Given the description of an element on the screen output the (x, y) to click on. 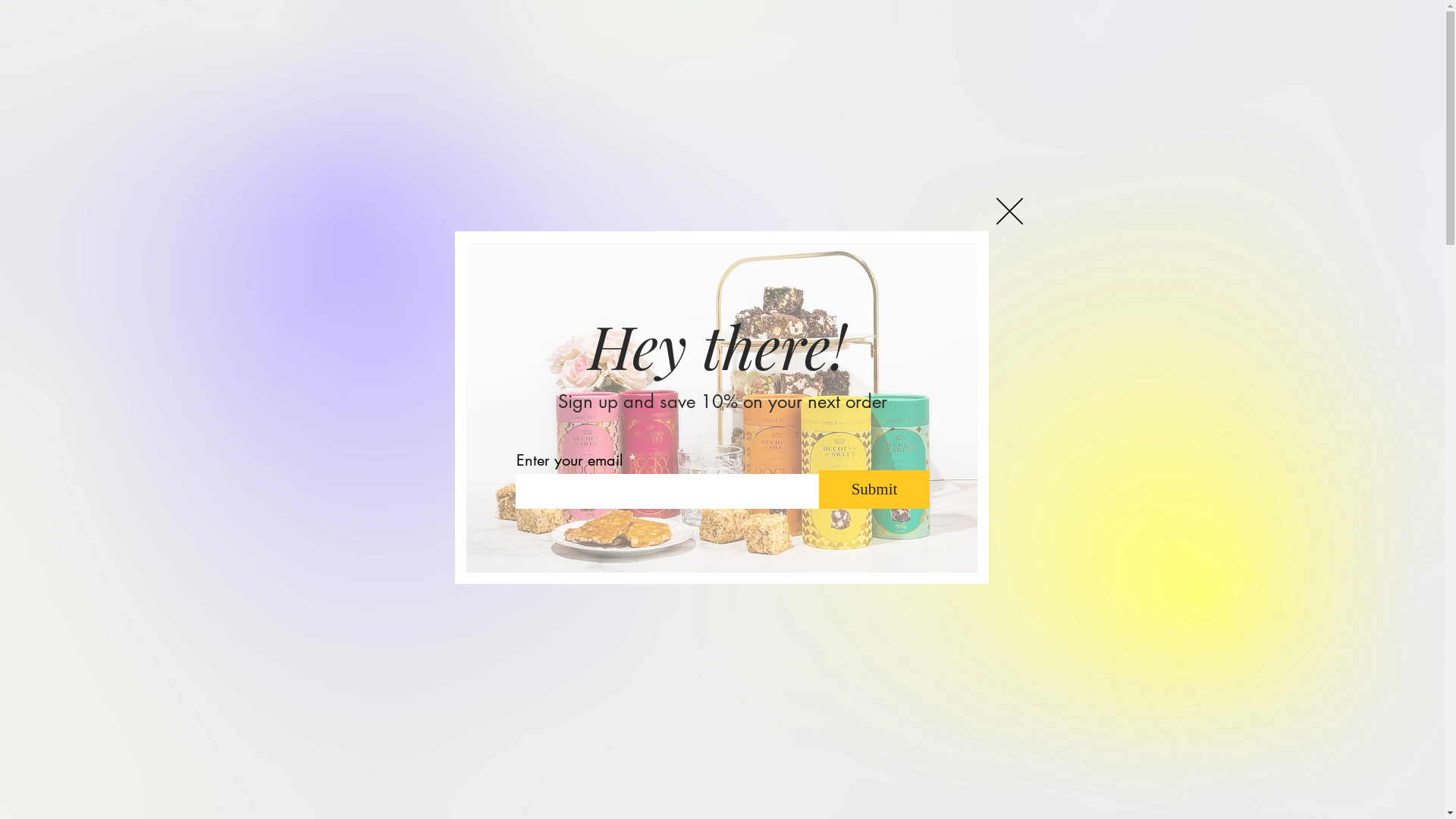
Submit Element type: text (874, 489)
Back to site Element type: hover (1009, 210)
OUR STORY Element type: text (813, 118)
Duchess of Sweet Logo - Artisan Confectionery Element type: hover (449, 88)
HOME Element type: text (685, 118)
SHOP Element type: text (742, 118)
CONTACT US Element type: text (1025, 118)
0 Element type: text (1078, 114)
SHIPPING & FAQ's Element type: text (916, 118)
SHOP NOW Element type: text (721, 532)
Duchess of Sweet Element type: hover (721, 407)
